Given the description of an element on the screen output the (x, y) to click on. 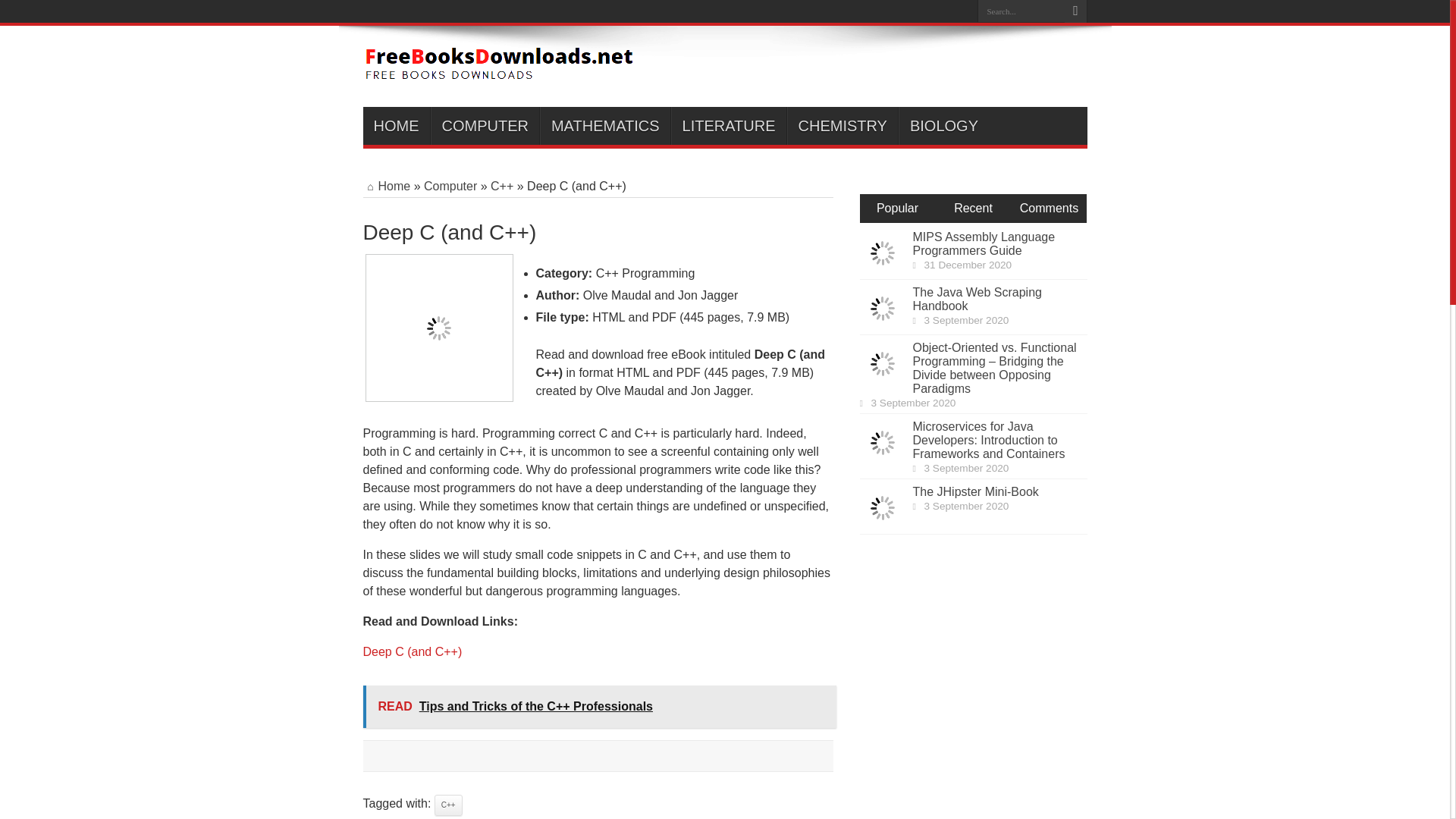
Permalink to The Java Web Scraping Handbook (882, 327)
MIPS Assembly Language Programmers Guide (983, 243)
The Java Web Scraping Handbook (977, 298)
Search... (1020, 11)
BIOLOGY (943, 125)
Permalink to MIPS Assembly Language Programmers Guide (882, 271)
Free Books Downloads (498, 68)
Search (1075, 11)
CHEMISTRY (842, 125)
